Given the description of an element on the screen output the (x, y) to click on. 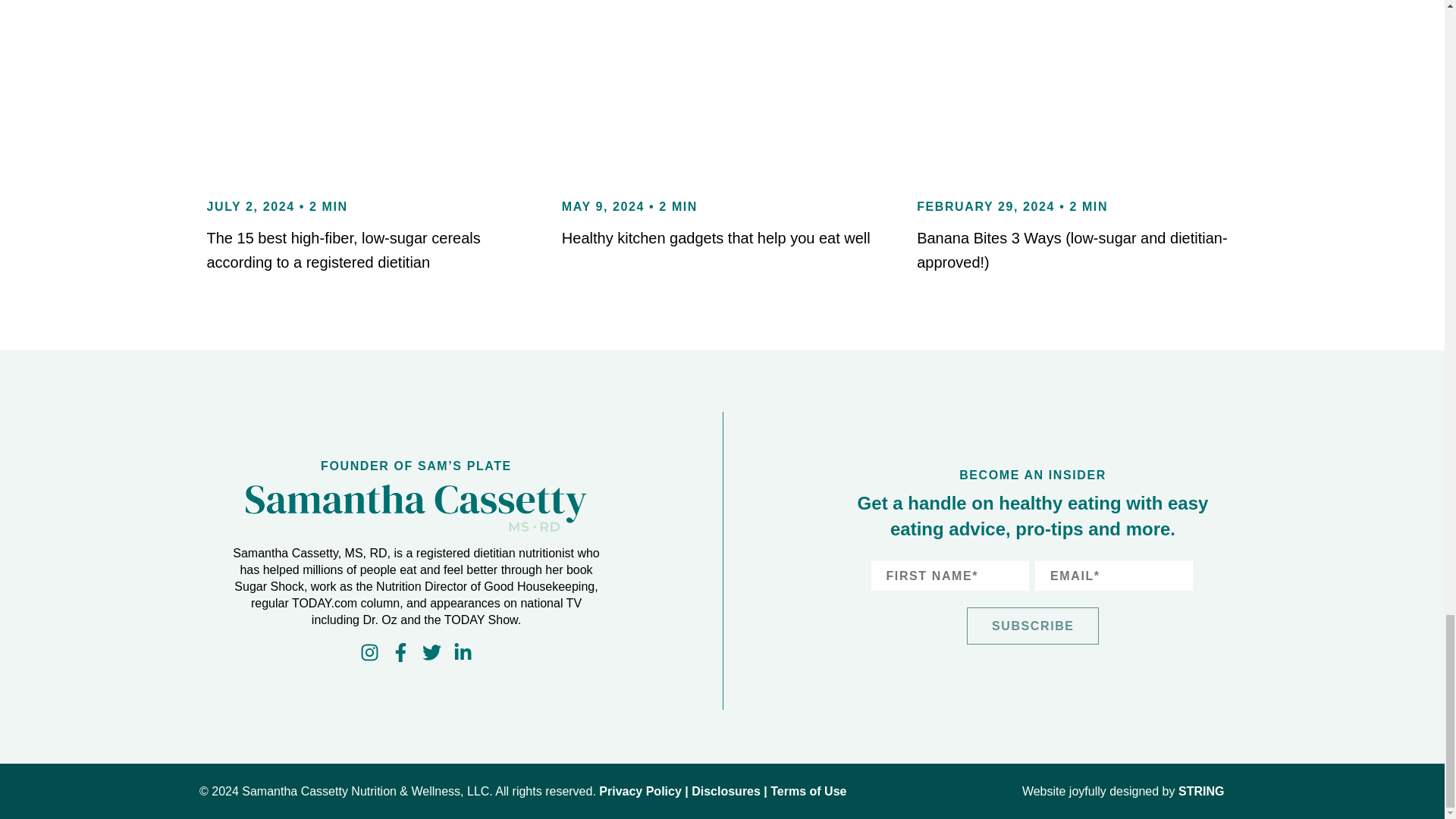
SUBSCRIBE (1032, 625)
Healthy kitchen gadgets that help you eat well (716, 238)
